Given the description of an element on the screen output the (x, y) to click on. 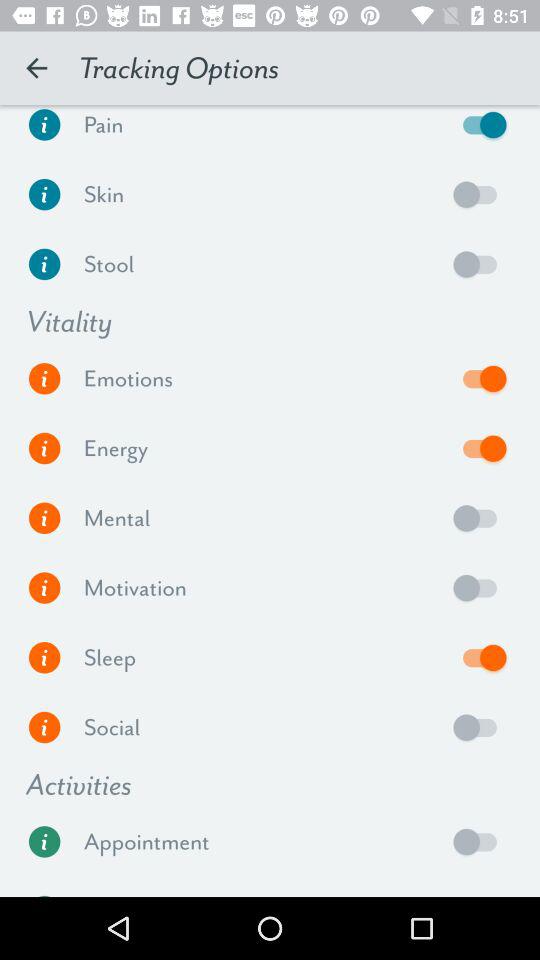
select the sleep button (479, 657)
